Given the description of an element on the screen output the (x, y) to click on. 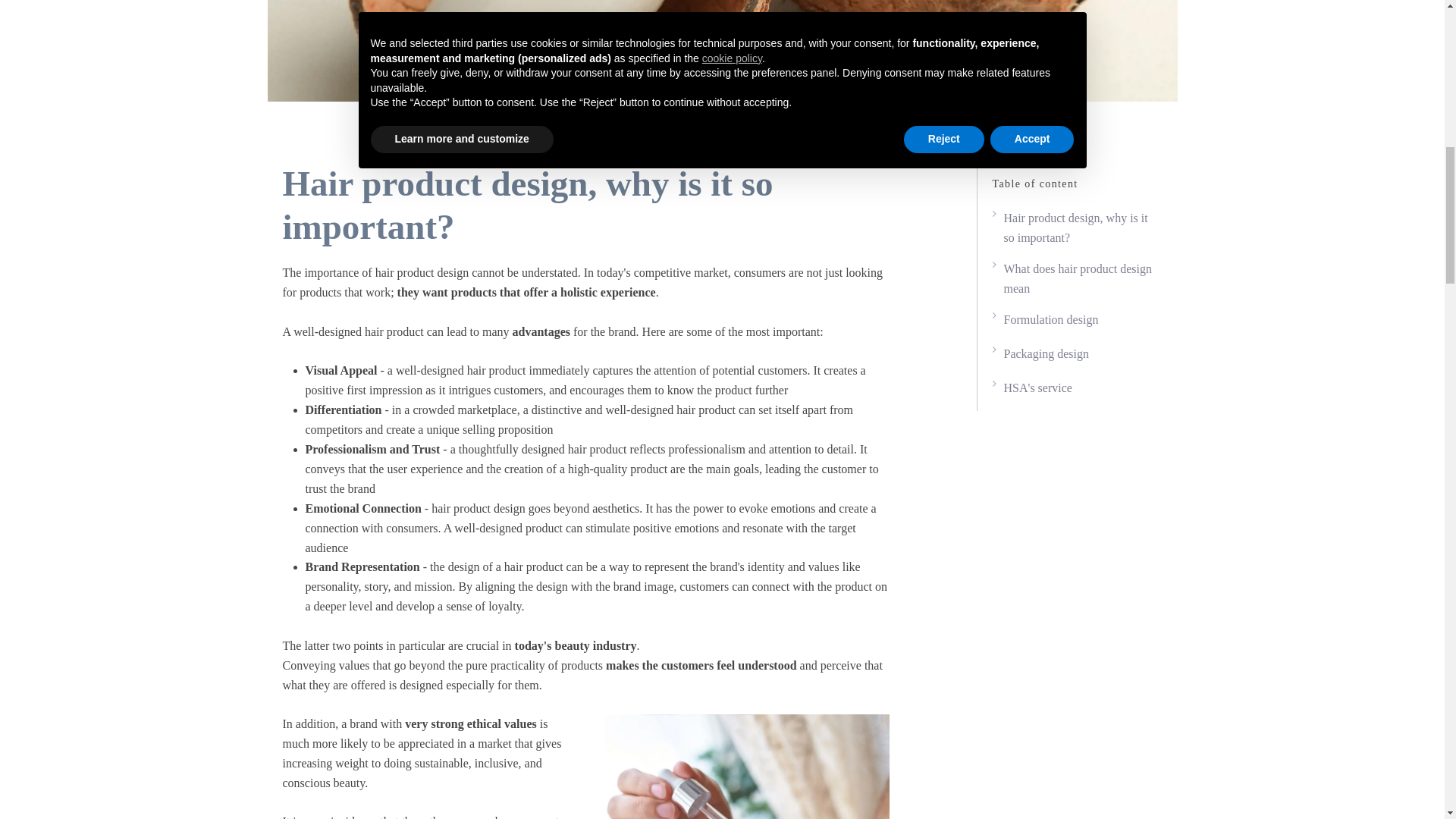
Formulation design (1074, 321)
Hair product design, why is it so important? (1074, 227)
What does hair product design mean (1074, 278)
HSA's service (1074, 389)
Packaging design (1074, 354)
